Given the description of an element on the screen output the (x, y) to click on. 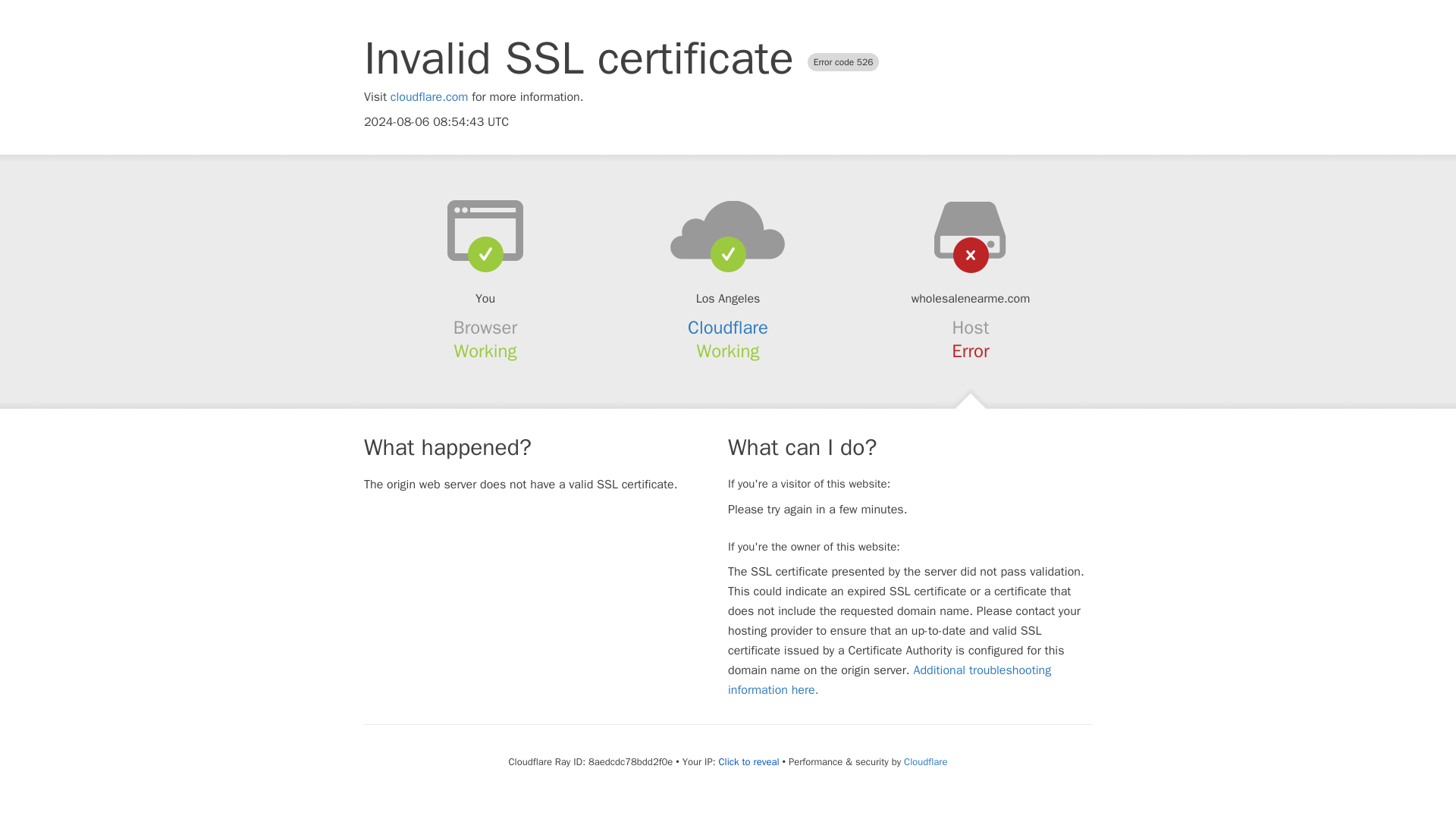
Cloudflare (727, 327)
Cloudflare (925, 761)
Additional troubleshooting information here. (889, 679)
Click to reveal (748, 762)
cloudflare.com (429, 96)
